Given the description of an element on the screen output the (x, y) to click on. 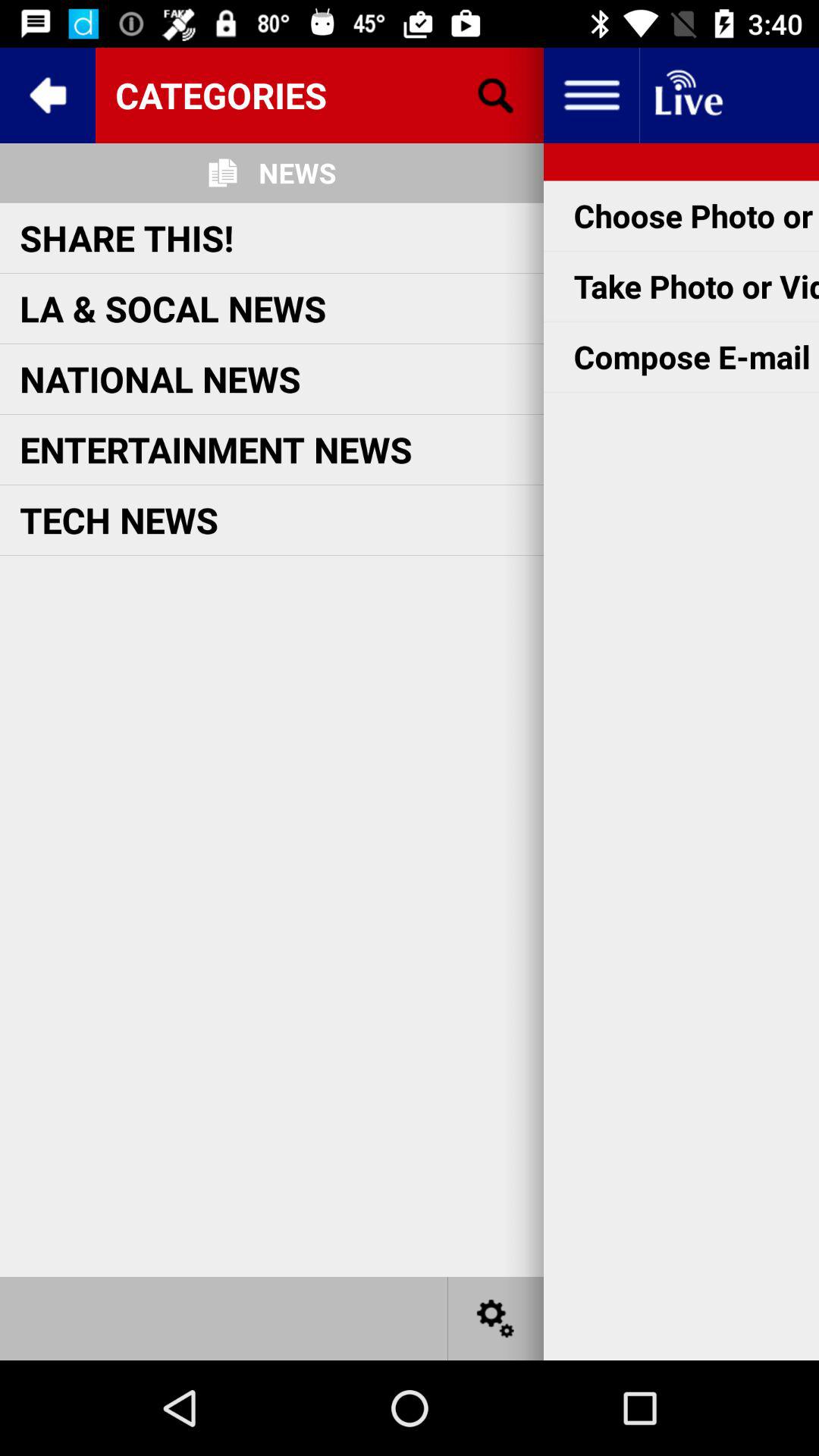
live (687, 95)
